Given the description of an element on the screen output the (x, y) to click on. 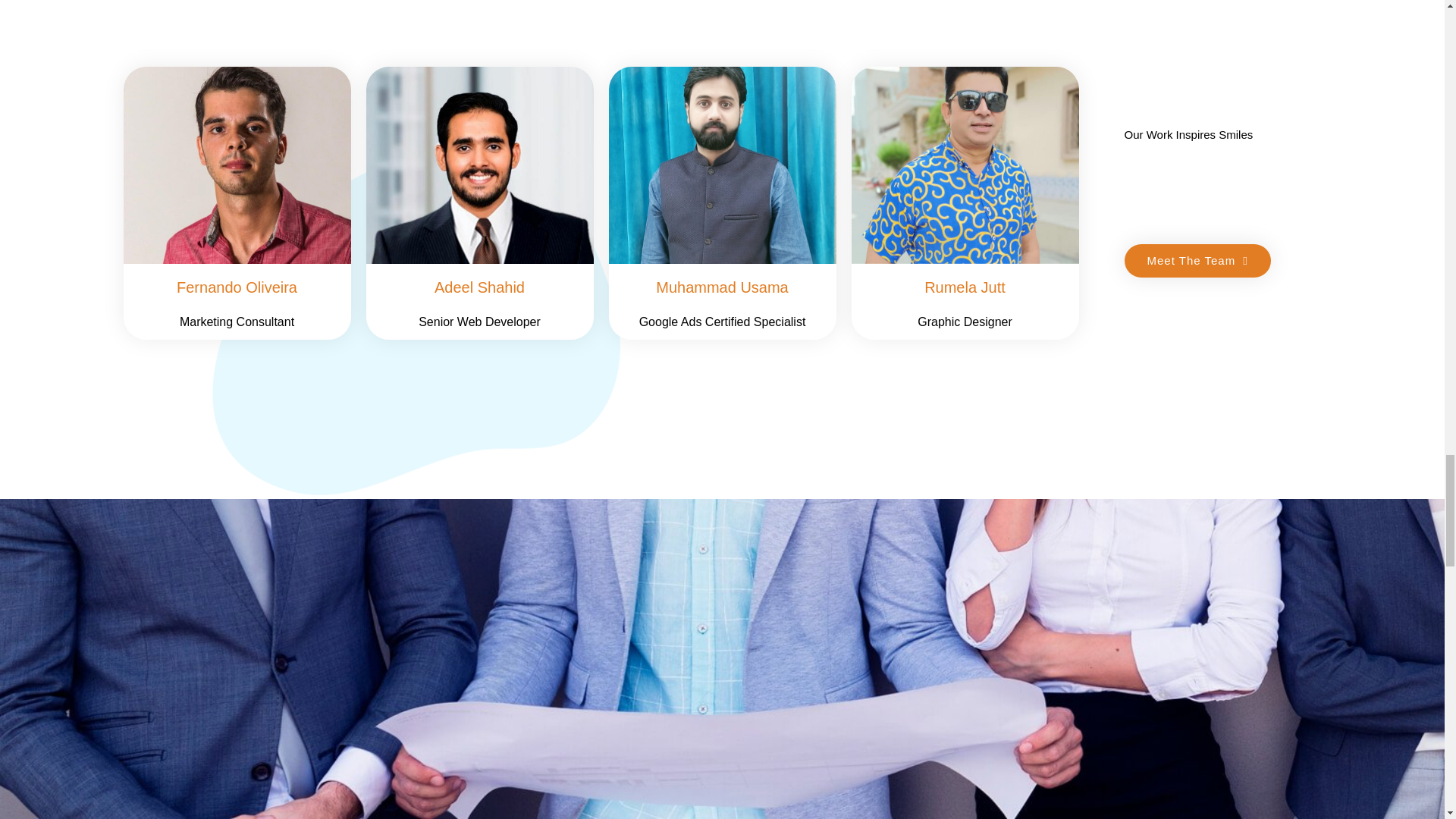
Meet The Team (1196, 260)
